Given the description of an element on the screen output the (x, y) to click on. 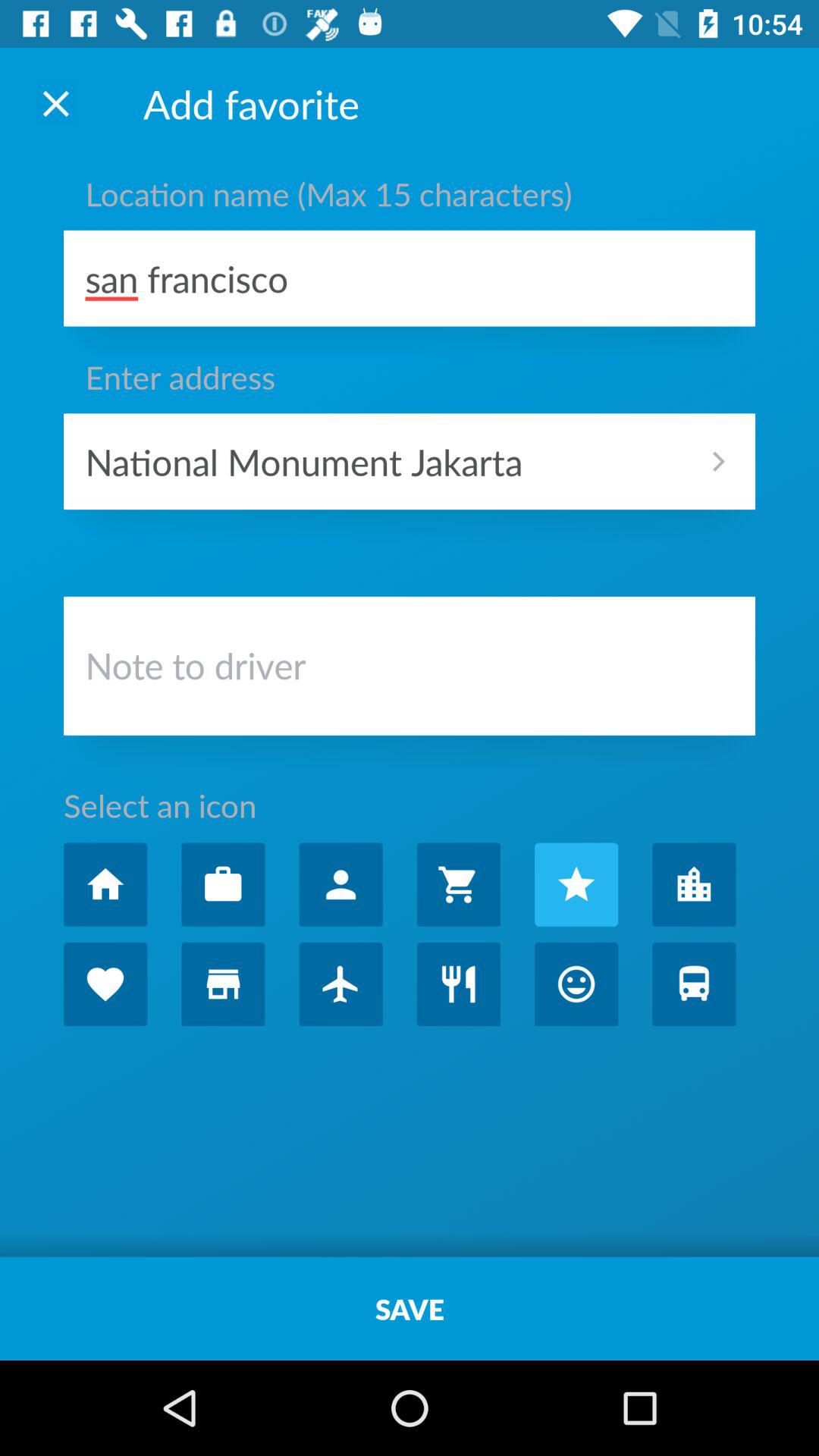
toggle autoplay option (693, 884)
